Given the description of an element on the screen output the (x, y) to click on. 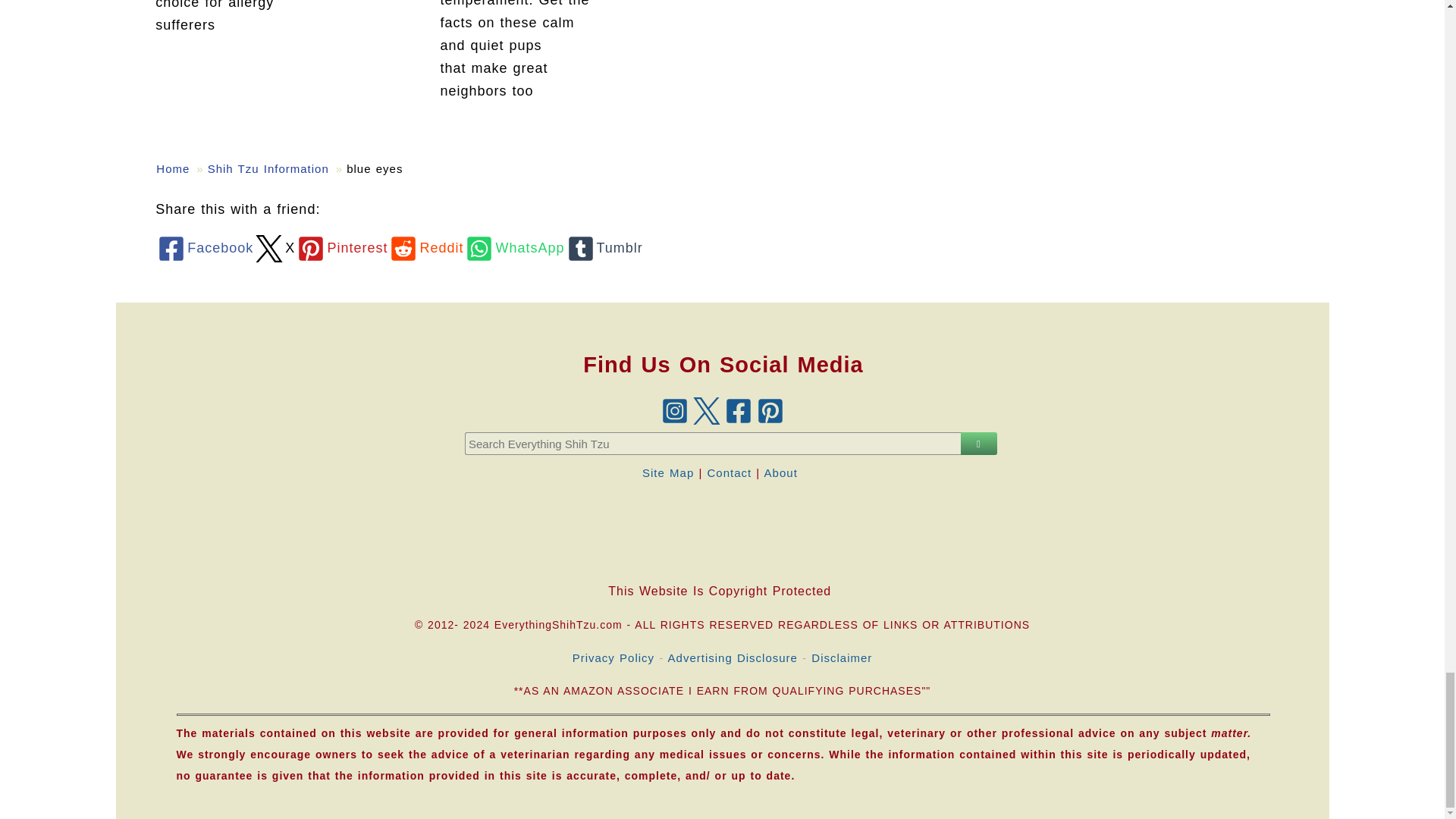
Pinterest (341, 248)
Follow us on Twitter (706, 409)
Facebook (204, 248)
Tumblr (603, 248)
WhatsApp (513, 248)
Follow us on Instagram (674, 409)
Shih Tzu Information (268, 168)
X (274, 248)
Follow us on Facebook (738, 409)
Home (172, 168)
Do not copy articles or images on this website. (722, 529)
Reddit (425, 248)
Visit us on Pinterest! (770, 409)
